Given the description of an element on the screen output the (x, y) to click on. 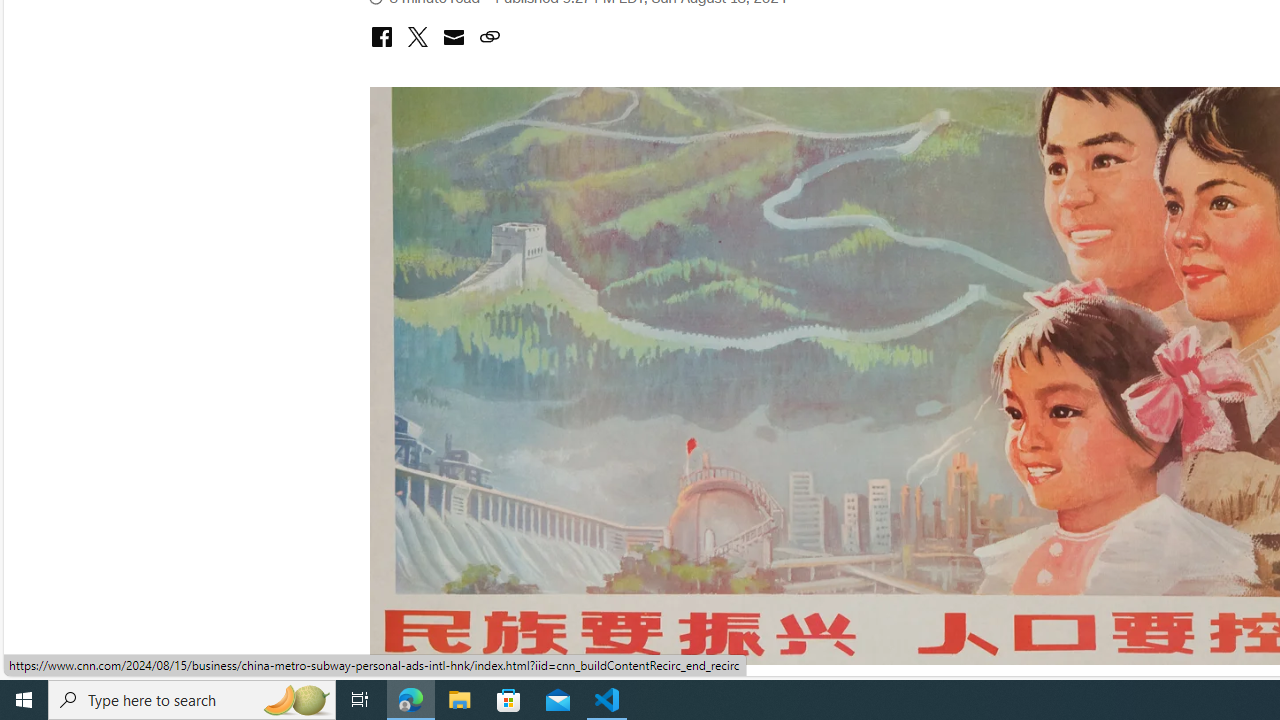
Class: icon-ui-link (489, 36)
Class: icon-social-twitter (417, 36)
share with x (417, 38)
copy link to clipboard (489, 38)
share with email (453, 39)
Class: icon-social-facebook (381, 36)
Class: icon-social-email-fill (453, 36)
share with facebook (381, 38)
